Given the description of an element on the screen output the (x, y) to click on. 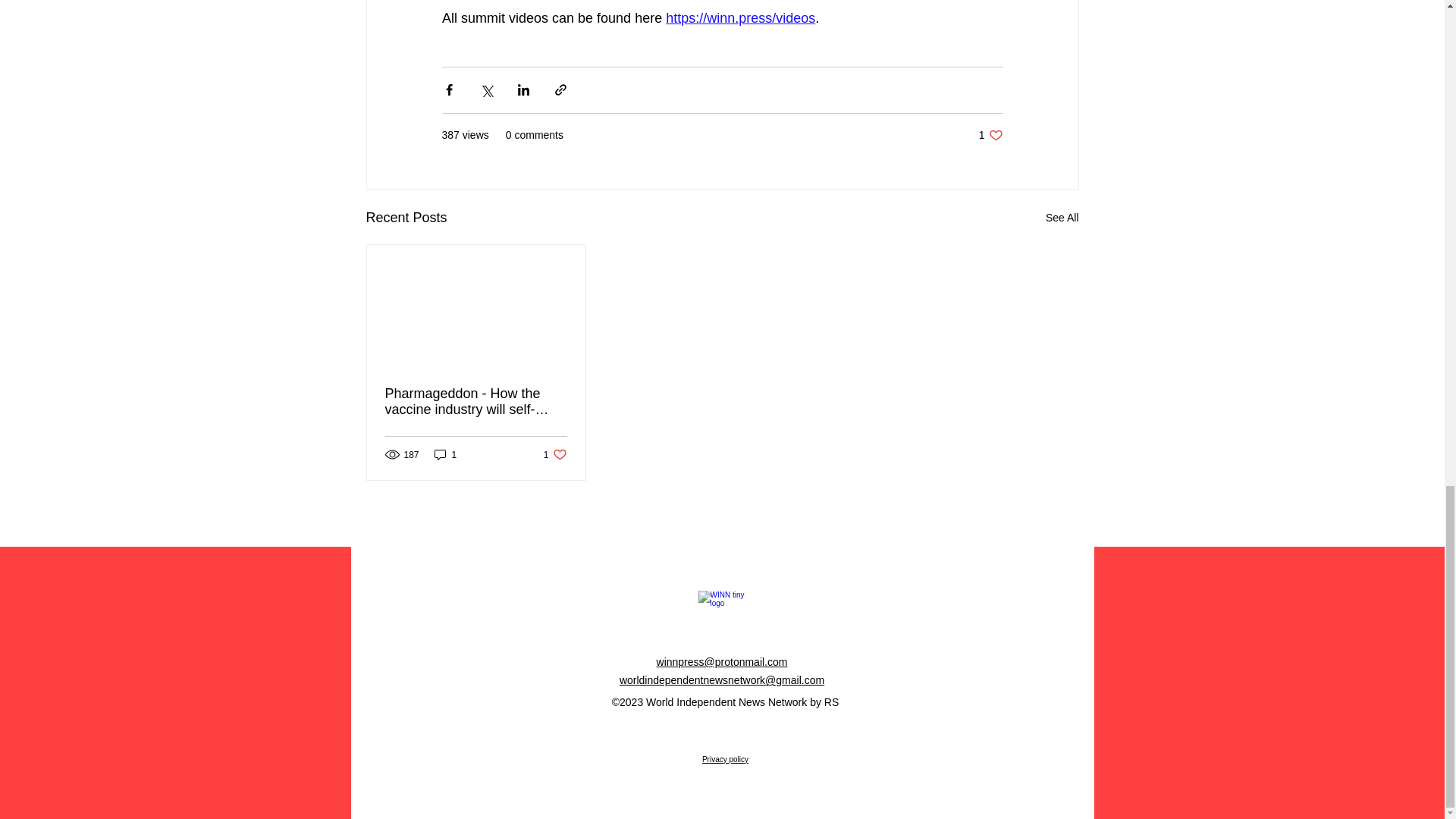
Privacy policy (724, 759)
Pharmageddon - How the vaccine industry will self-destroy (476, 401)
1 (445, 454)
See All (1061, 218)
WINN tiny logo (555, 454)
